Given the description of an element on the screen output the (x, y) to click on. 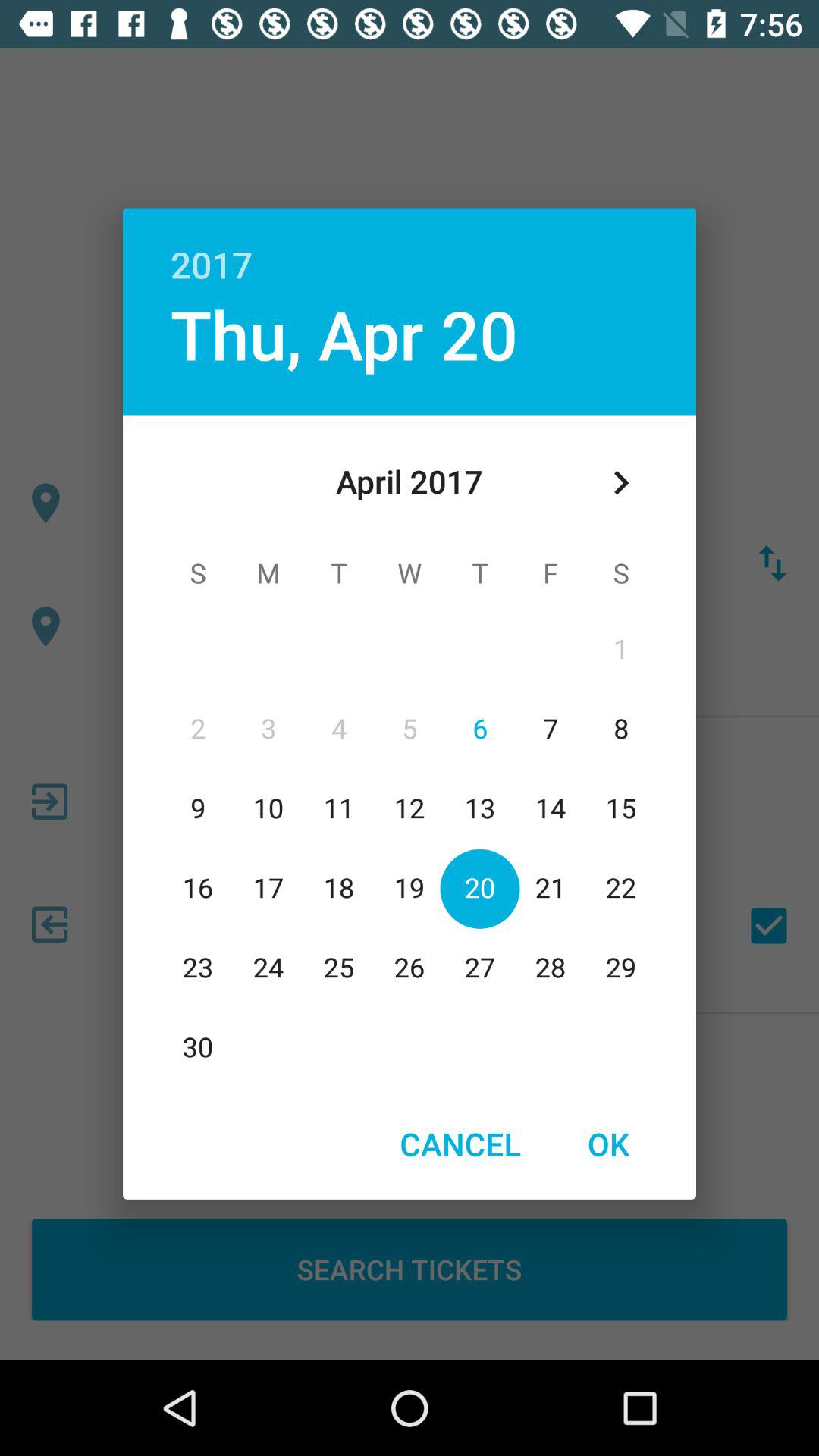
click 2017 app (409, 248)
